Given the description of an element on the screen output the (x, y) to click on. 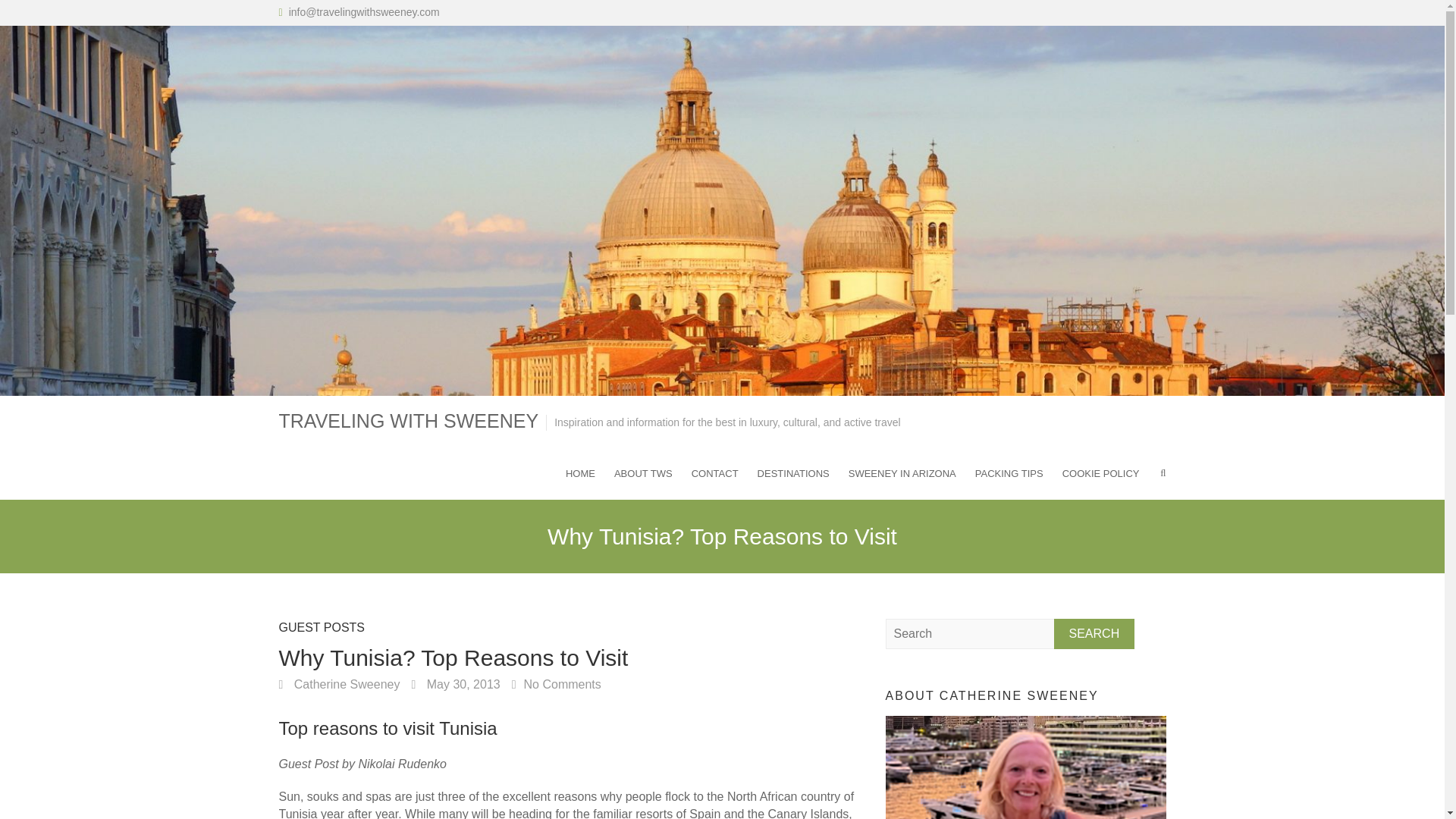
DESTINATIONS (793, 472)
Search (1094, 634)
TRAVELING WITH SWEENEY (408, 421)
Search (1094, 634)
Mail Us (363, 11)
ABOUT TWS (643, 472)
Traveling with Sweeney (408, 421)
Catherine Sweeney (339, 684)
3:47 pm (454, 684)
